Given the description of an element on the screen output the (x, y) to click on. 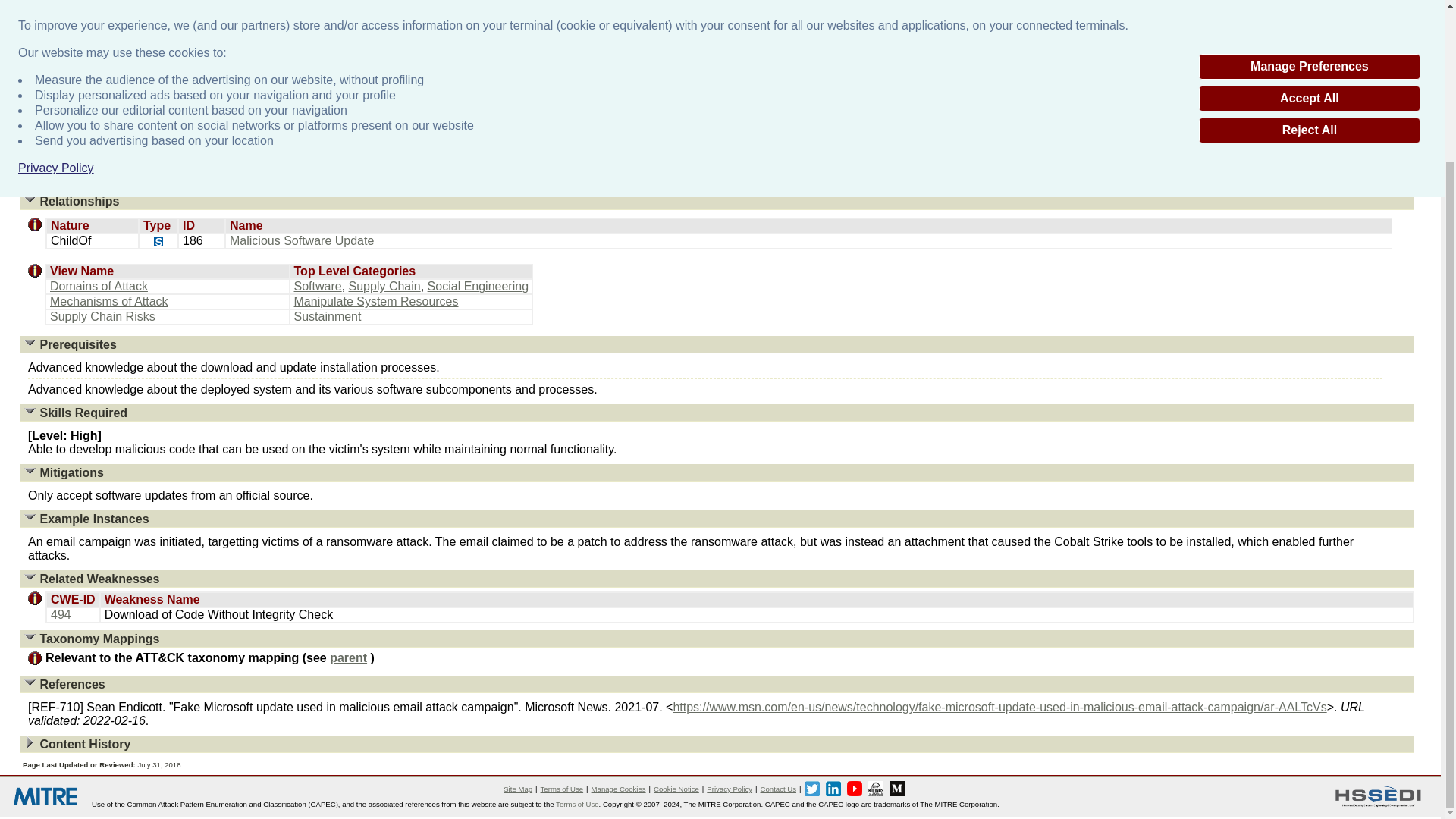
CAPEC Blog on Medium (896, 788)
HSSEDI (1377, 796)
CAPEC Out-of-Bounds-Read Podcast (875, 788)
CAPEC on Twitter (812, 788)
CAPEC on YouTube (854, 788)
CAPEC on LinkedIn (833, 788)
